Given the description of an element on the screen output the (x, y) to click on. 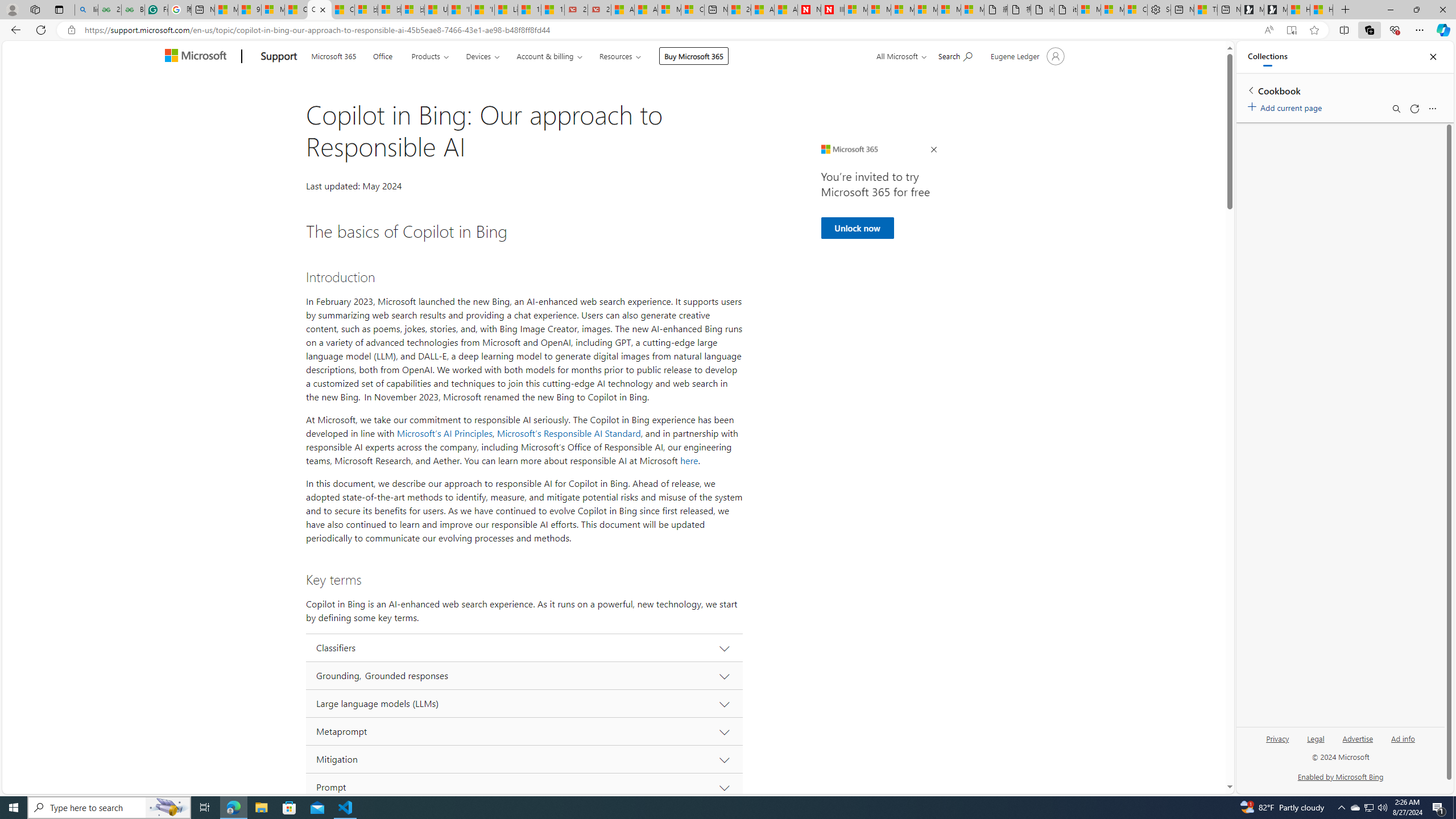
Back to list of collections (1250, 90)
Buy Microsoft 365 (693, 55)
Illness news & latest pictures from Newsweek.com (832, 9)
Support (278, 56)
Add current page (1286, 105)
here (688, 460)
